Given the description of an element on the screen output the (x, y) to click on. 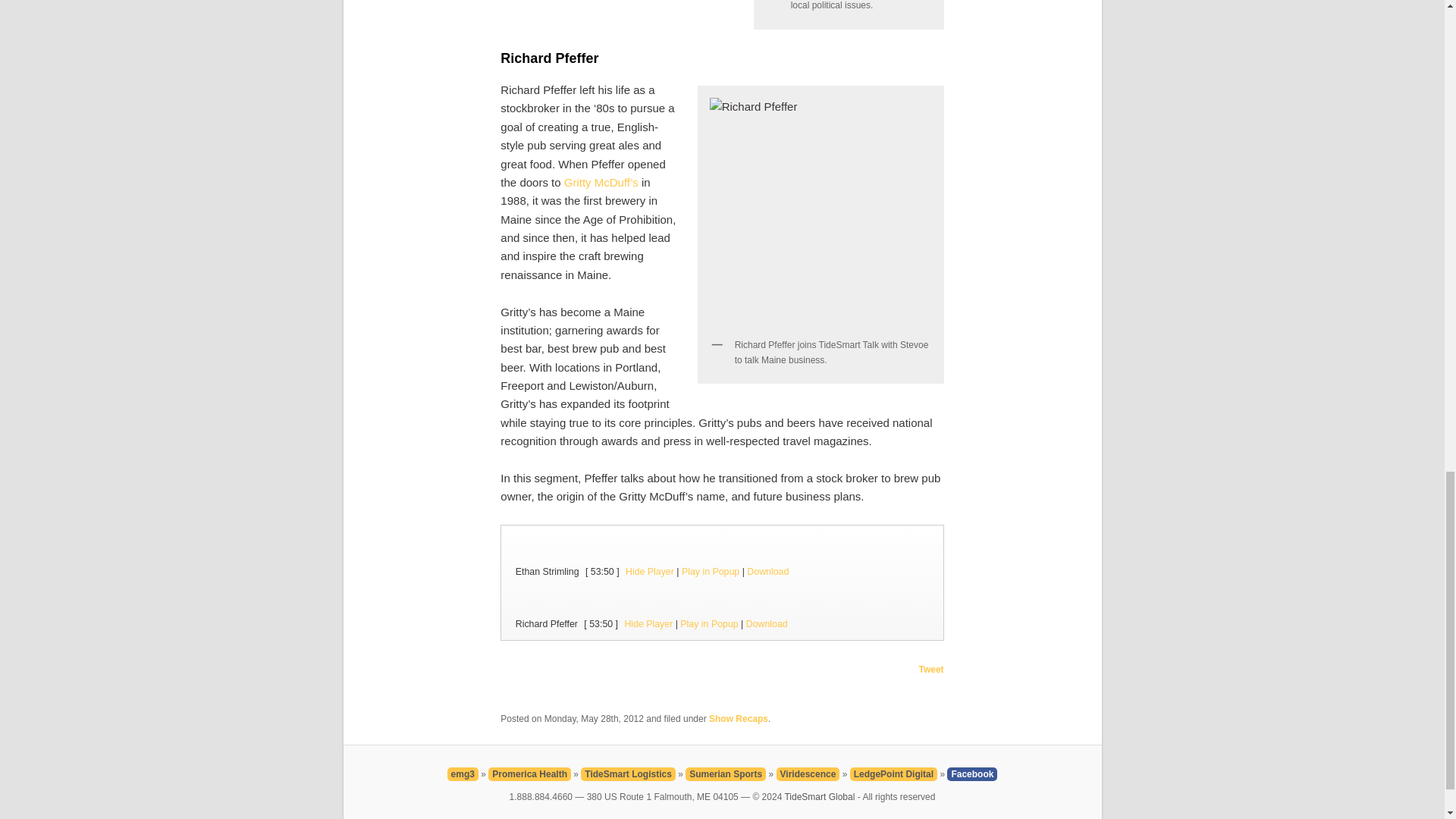
Ledgepoint Digital (893, 774)
TideSmart on Facebook (972, 774)
Play in Popup (708, 624)
Viridescence (808, 774)
Facebook (972, 774)
TideSmart Global (819, 796)
Download (767, 571)
Play in Popup (710, 571)
Viridescence (808, 774)
Summerian Sports (725, 774)
